Given the description of an element on the screen output the (x, y) to click on. 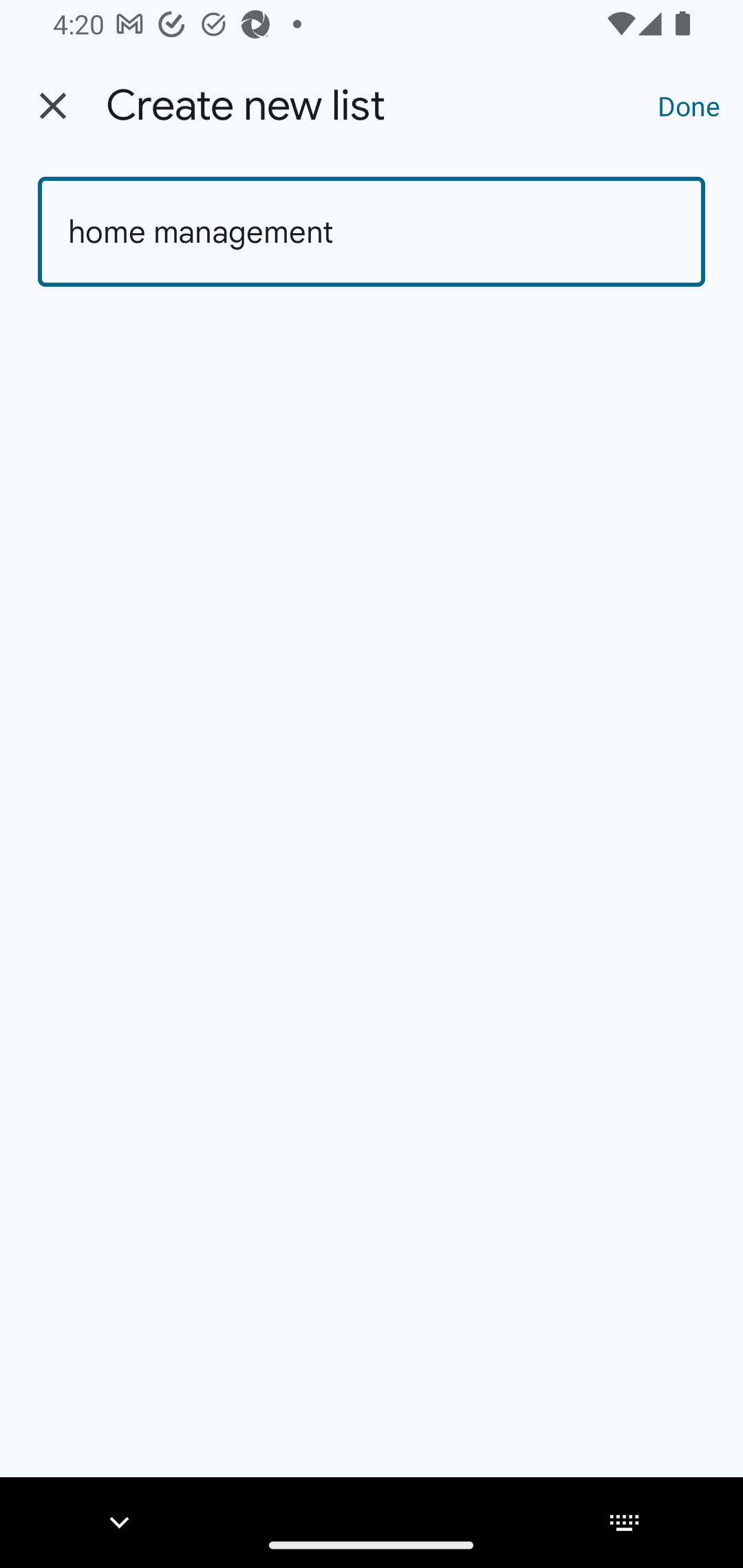
Back (53, 105)
Done (689, 105)
home management (371, 231)
